Given the description of an element on the screen output the (x, y) to click on. 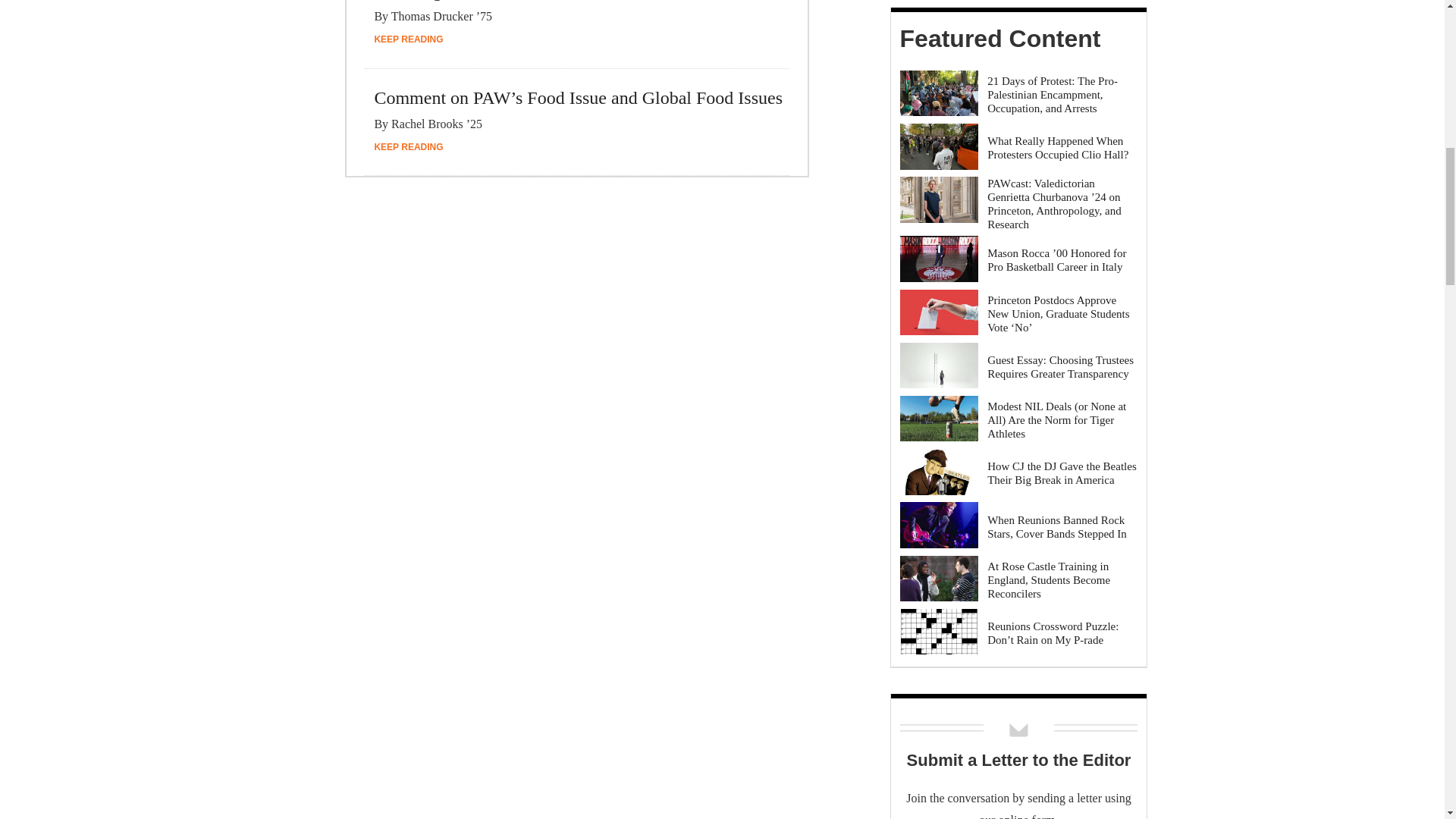
KEEP READING (408, 145)
KEEP READING (408, 39)
